Given the description of an element on the screen output the (x, y) to click on. 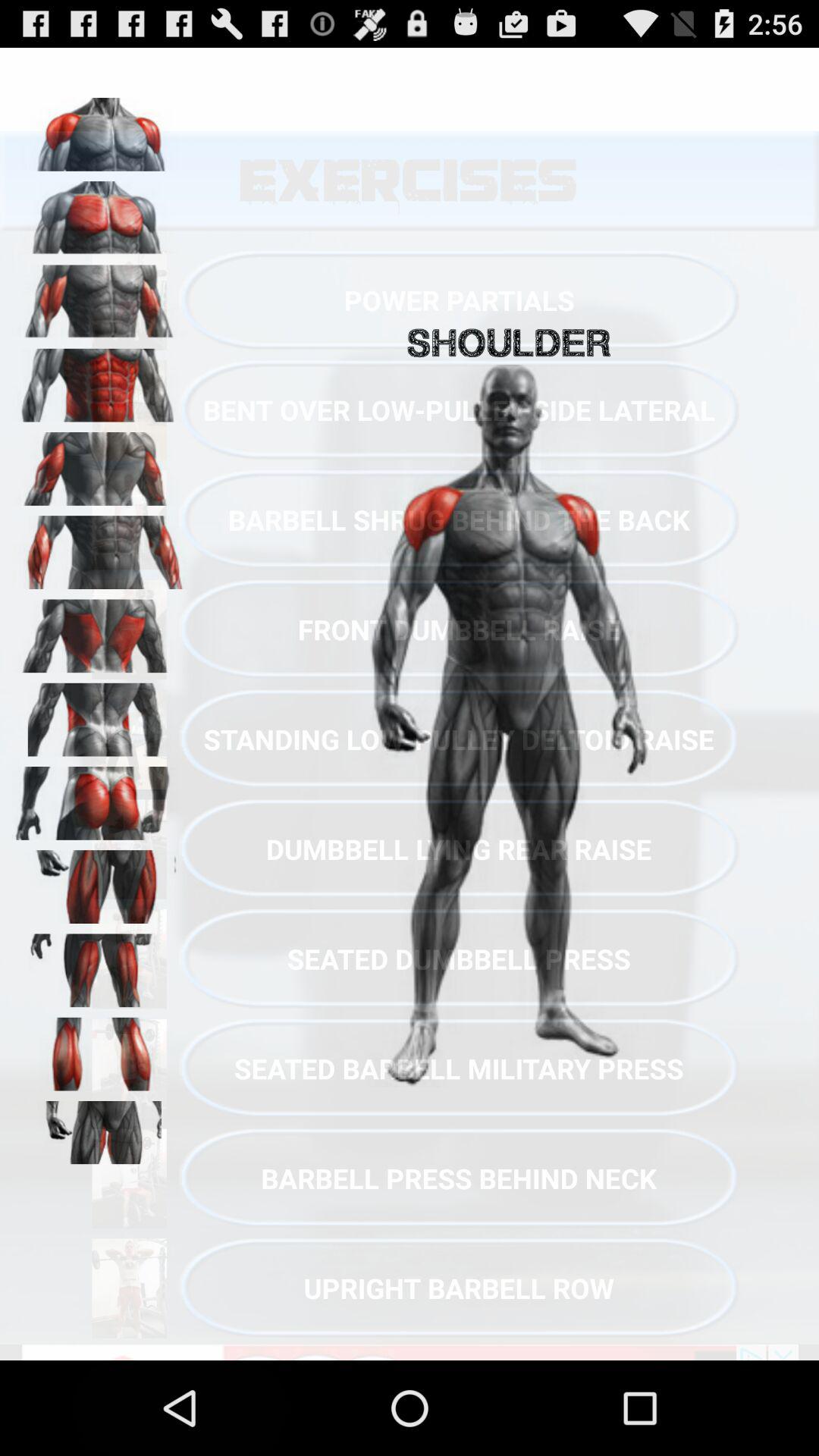
select thighs (99, 965)
